Given the description of an element on the screen output the (x, y) to click on. 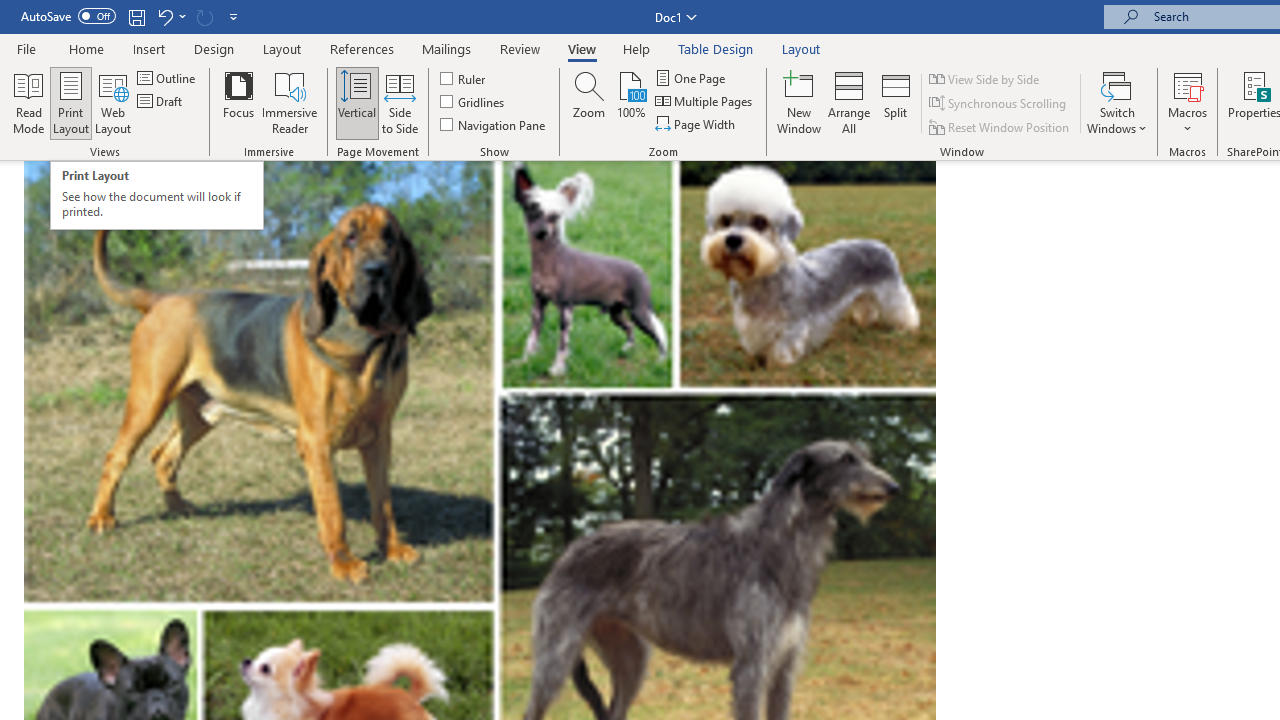
Arrange All (156, 195)
Split (848, 102)
Can't Repeat (895, 102)
Zoom... (204, 15)
Multiple Pages (589, 102)
View Side by Side (705, 101)
Switch Windows (985, 78)
